Given the description of an element on the screen output the (x, y) to click on. 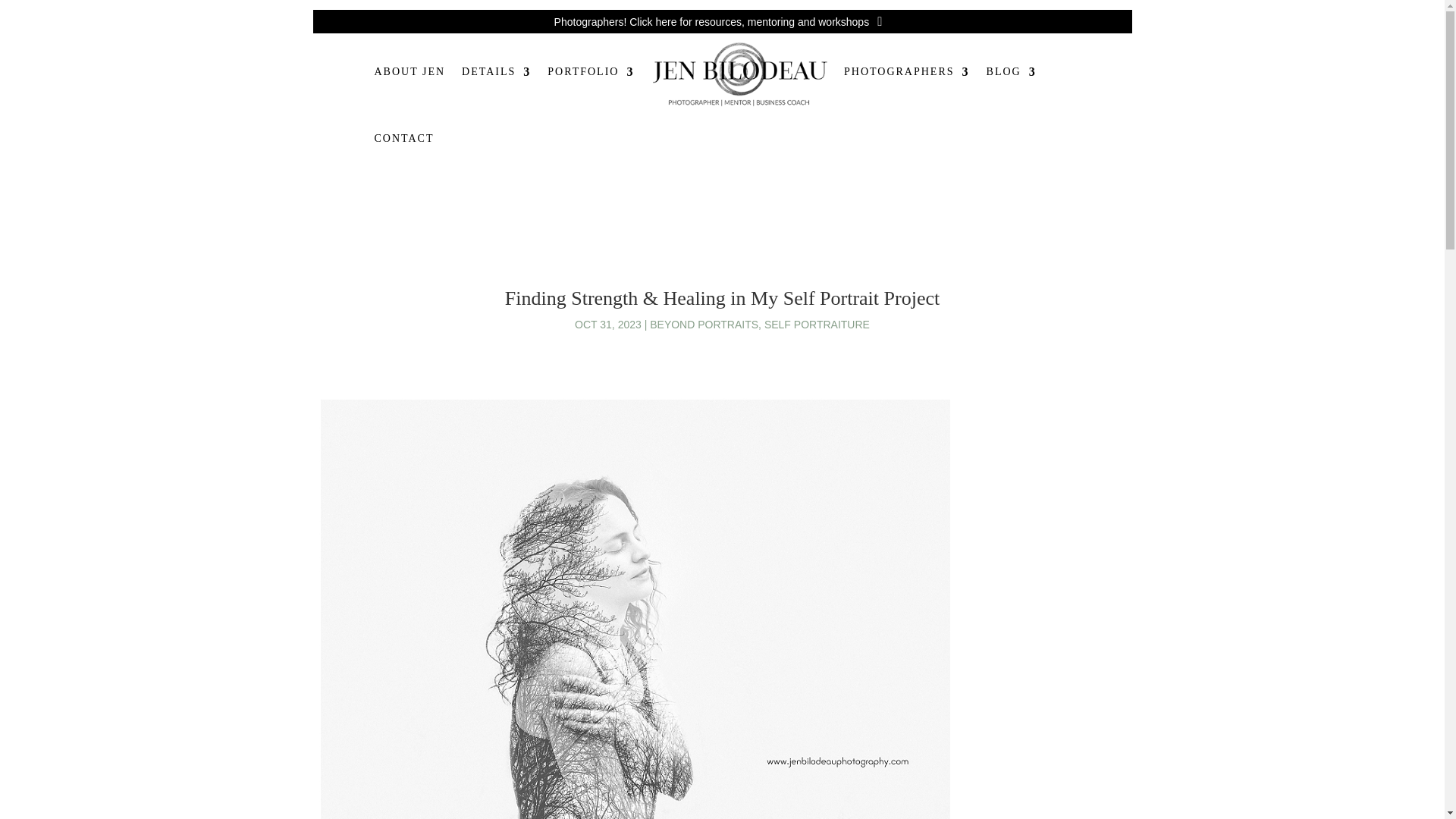
ABOUT JEN (409, 71)
PORTFOLIO (590, 71)
DETAILS (496, 71)
PHOTOGRAPHERS (906, 71)
BLOG (1011, 71)
CONTACT (403, 138)
